Given the description of an element on the screen output the (x, y) to click on. 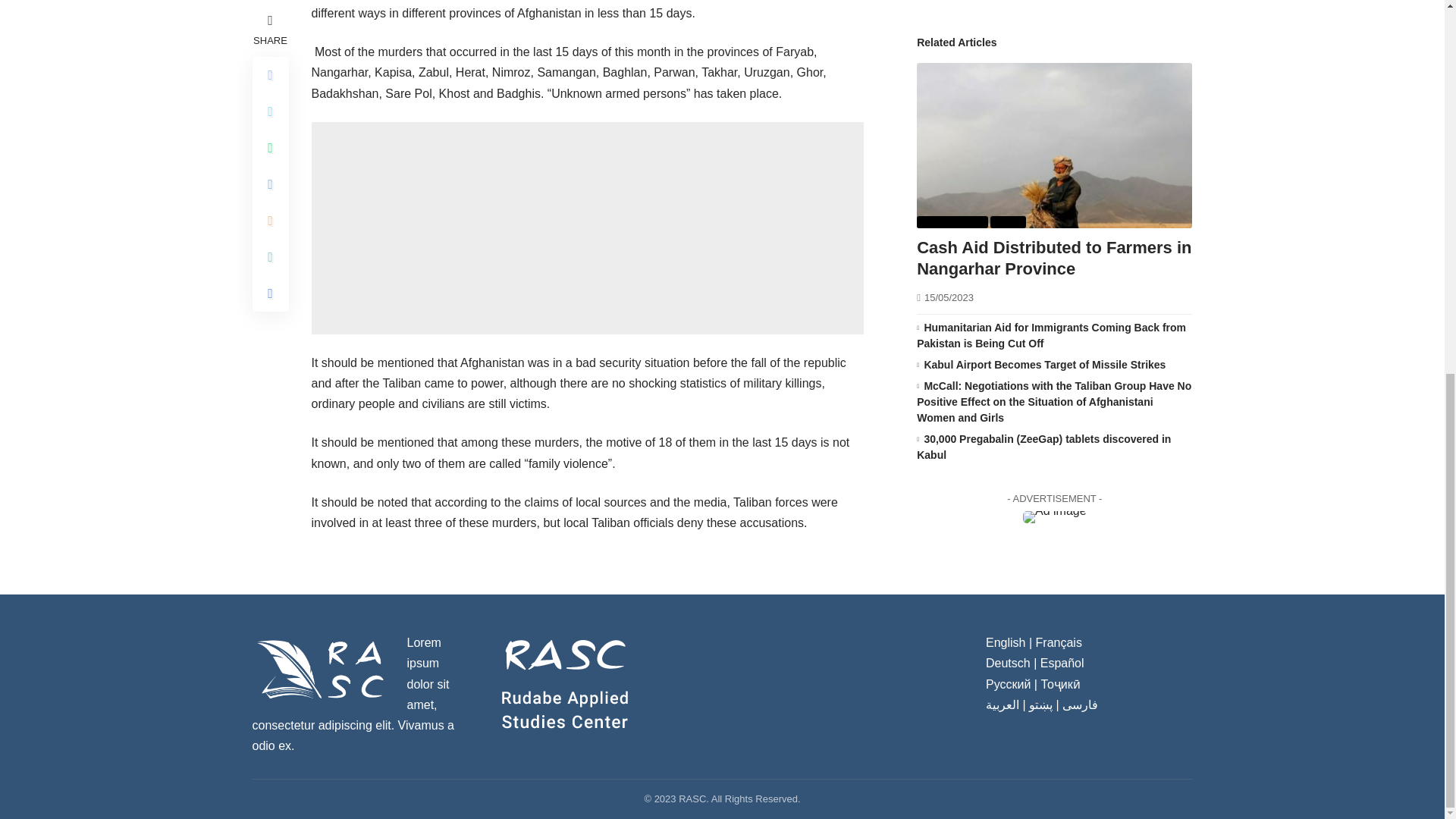
Advertisement (587, 228)
